Given the description of an element on the screen output the (x, y) to click on. 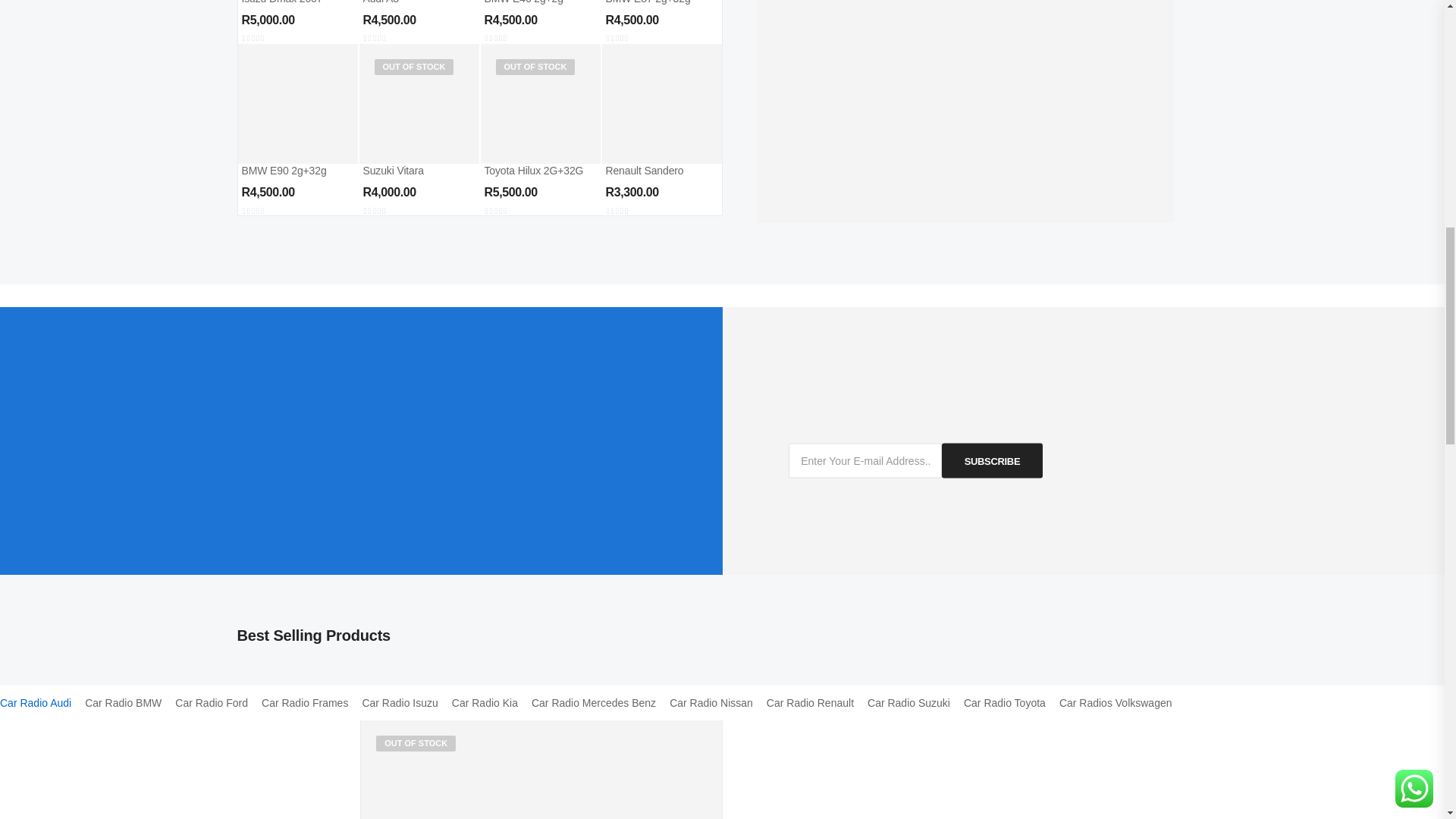
Out-of-Stock Product (415, 743)
Isuzu Dmax 2007 (281, 2)
Out-of-Stock Product (535, 66)
Out-of-Stock Product (414, 66)
Audi A3 (379, 2)
